Given the description of an element on the screen output the (x, y) to click on. 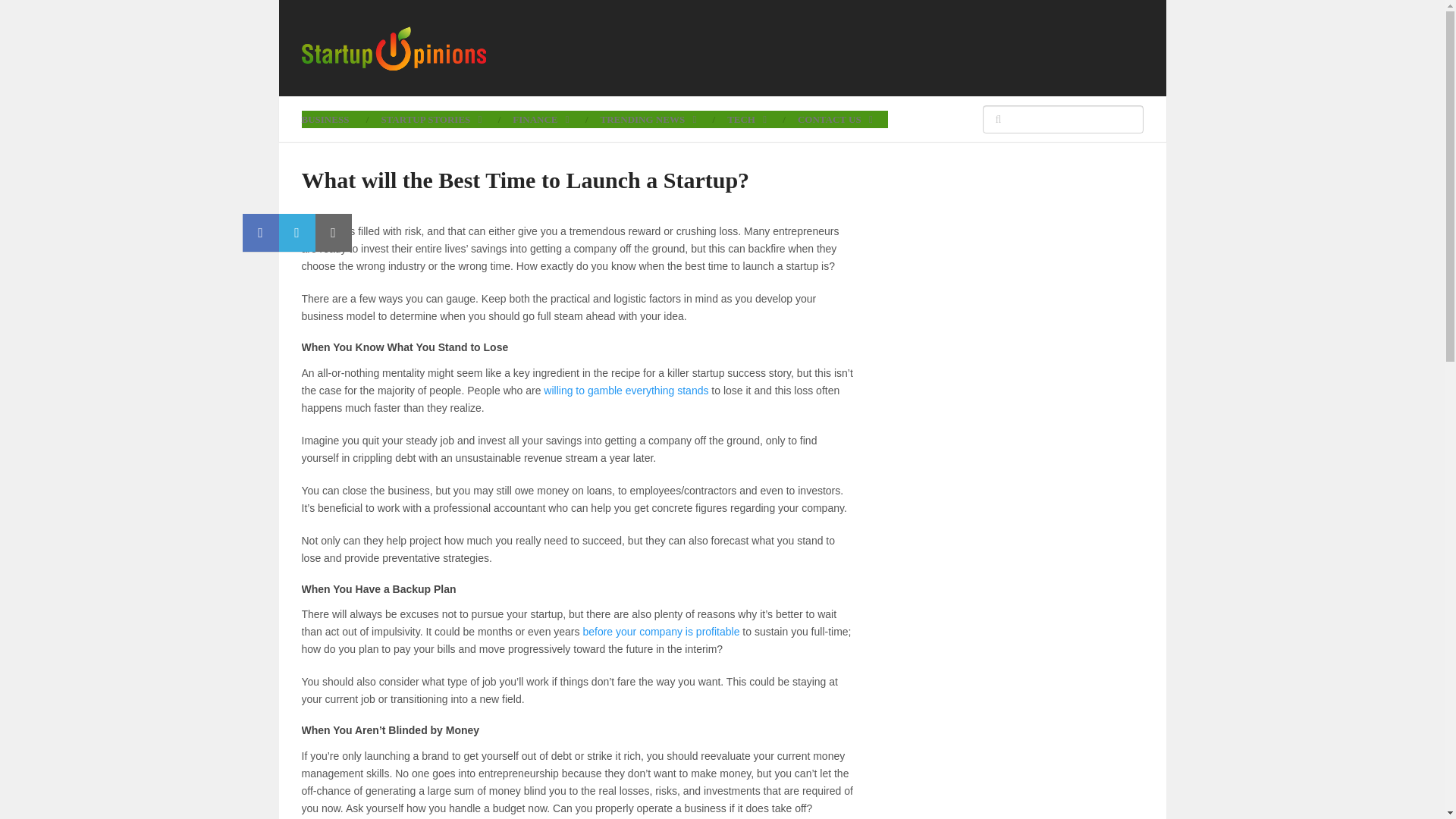
before your company is profitable (660, 631)
TRENDING NEWS (648, 118)
TECH (746, 118)
FINANCE (539, 118)
STARTUP STORIES (430, 118)
willing to gamble everything stands (625, 390)
CONTACT US (834, 118)
BUSINESS (333, 118)
